Given the description of an element on the screen output the (x, y) to click on. 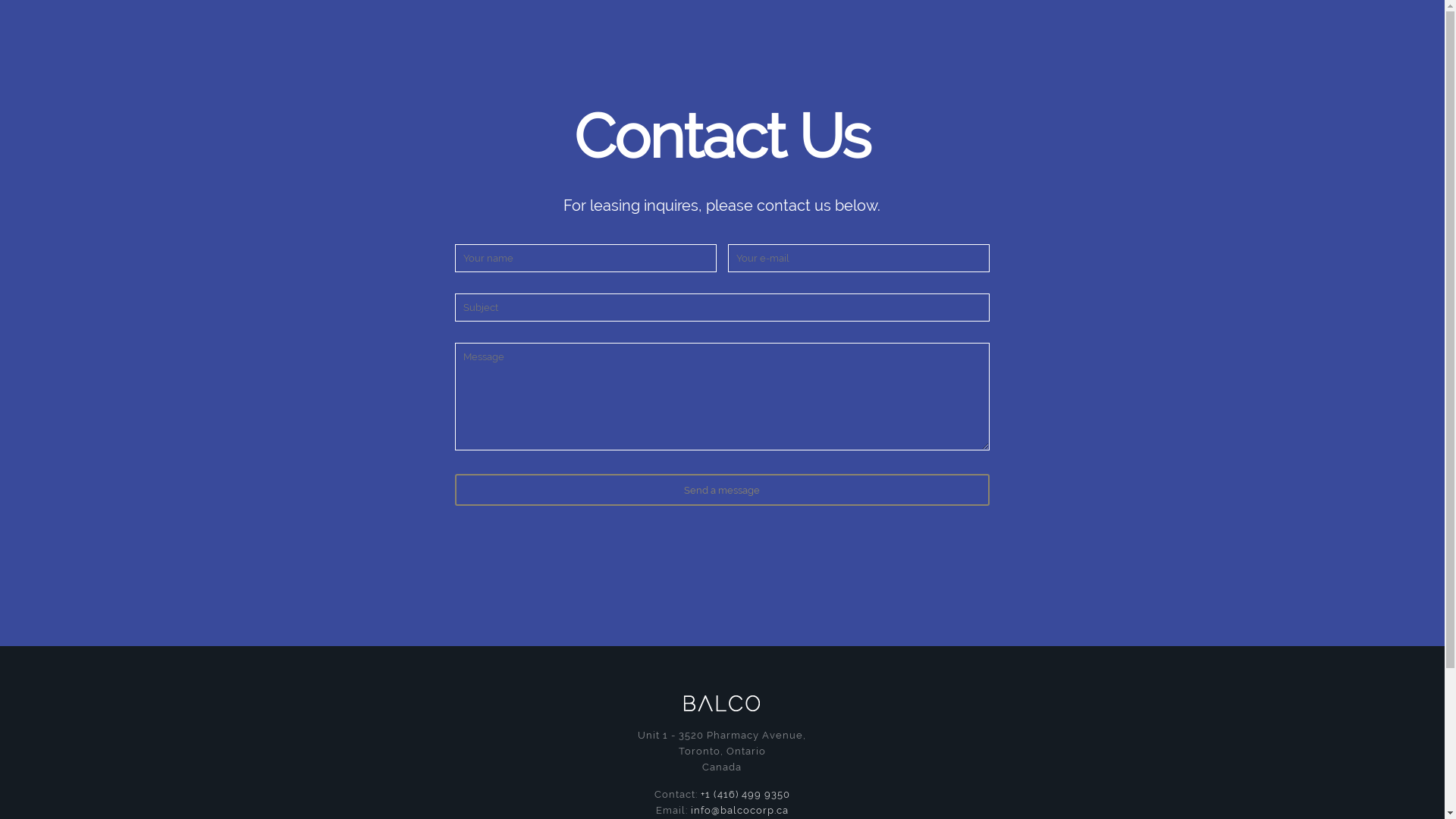
Send a message Element type: text (722, 489)
info@balcocorp.ca Element type: text (739, 809)
